Given the description of an element on the screen output the (x, y) to click on. 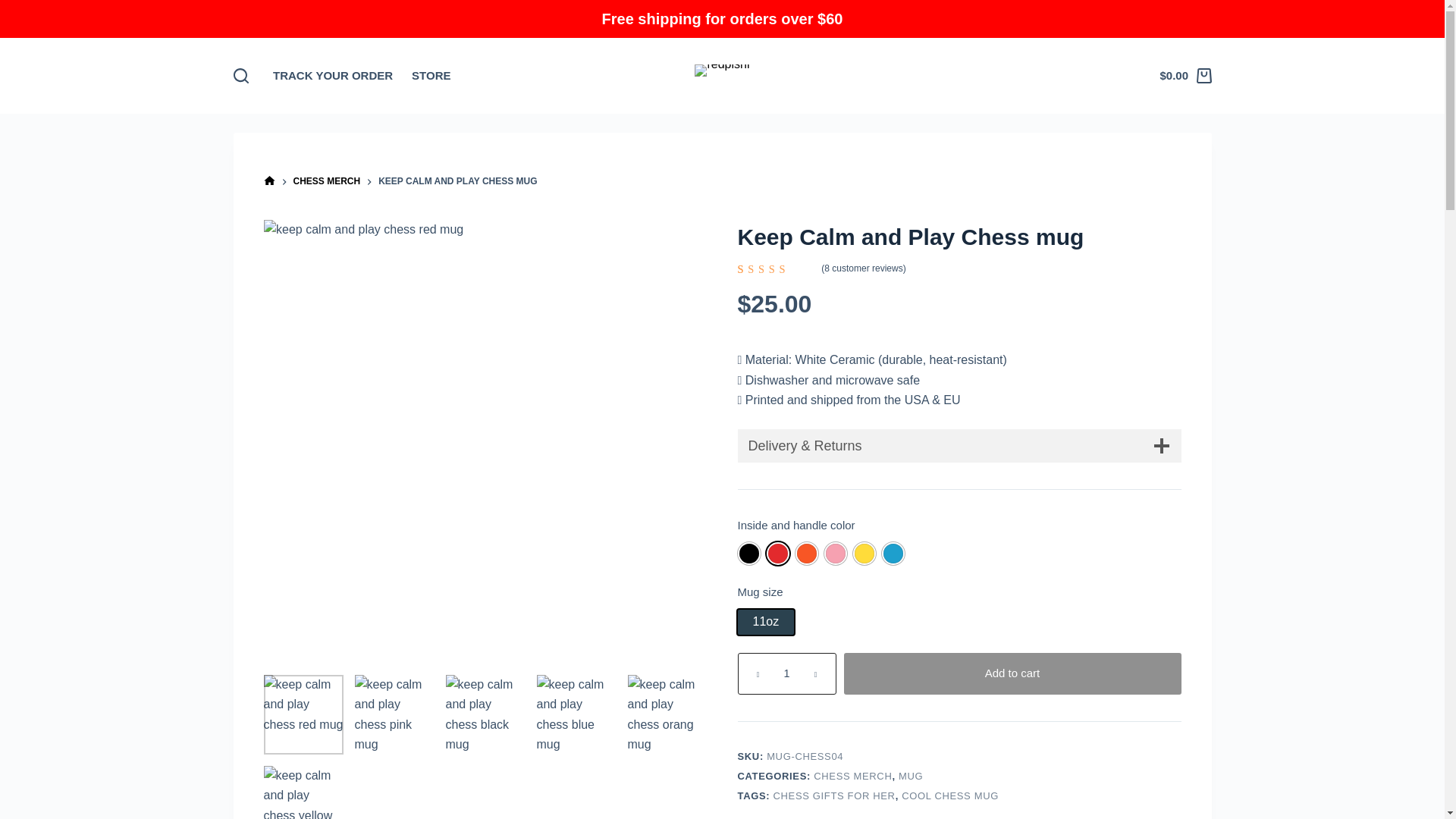
CHESS MERCH (325, 181)
keep calm and play chess red mug (303, 714)
keep calm and play chess yellow mug (303, 792)
Add to cart (1011, 673)
keep calm and play chess orang mug (667, 714)
keep calm and play chess pink mug (394, 714)
1 (785, 673)
TRACK YOUR ORDER (333, 75)
Skip to content (15, 7)
